Given the description of an element on the screen output the (x, y) to click on. 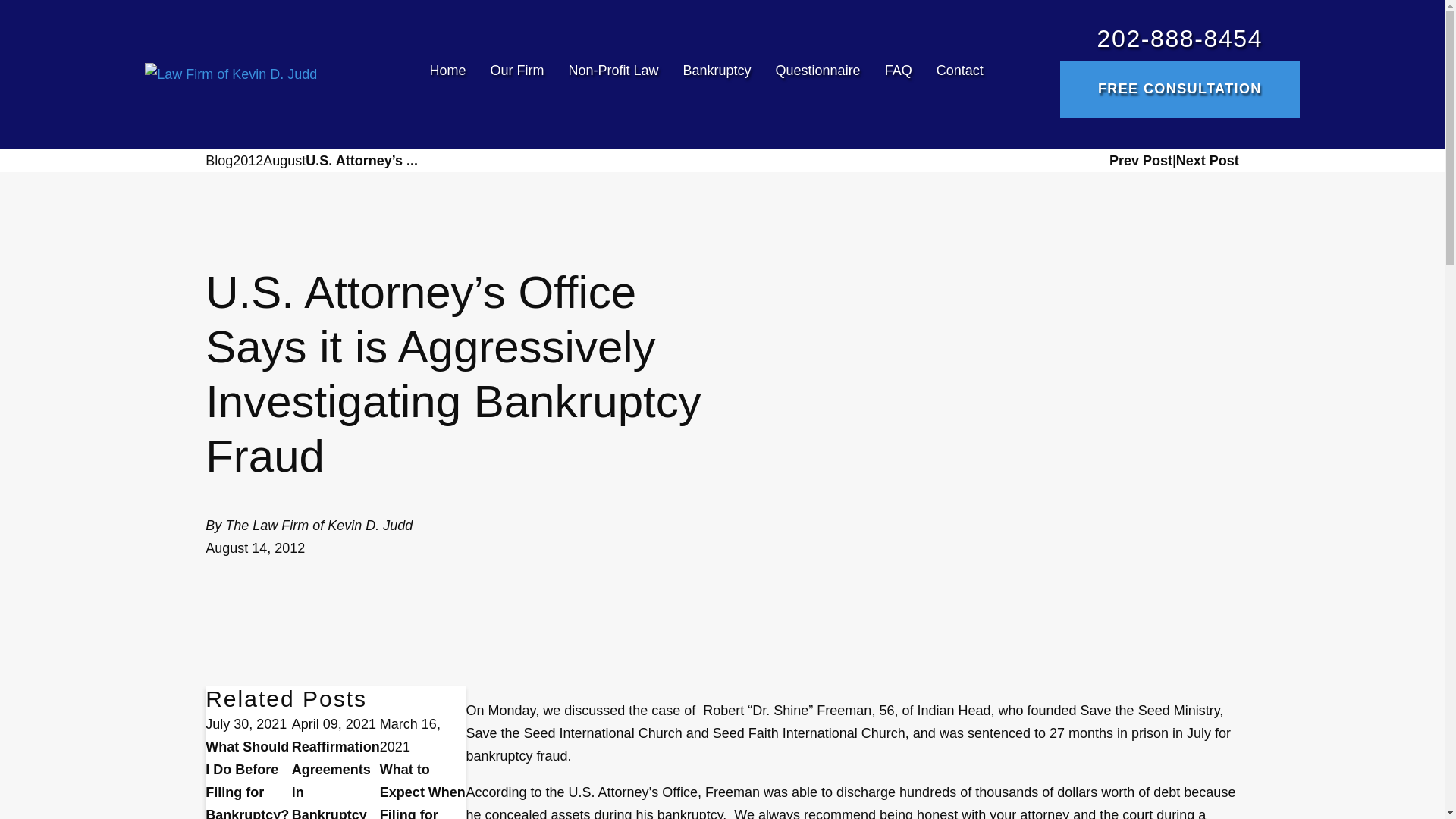
Contact (954, 74)
FREE CONSULTATION (1179, 88)
2012 (247, 160)
Open the accessibility options menu (20, 798)
Prev Post (1140, 160)
Next Post (1207, 160)
Non-Profit Law (612, 74)
Home (453, 74)
Blog (218, 160)
Bankruptcy (716, 74)
August (284, 160)
Questionnaire (817, 74)
202-888-8454 (1179, 38)
Our Firm (516, 74)
Law Firm of Kevin D. Judd (230, 74)
